Given the description of an element on the screen output the (x, y) to click on. 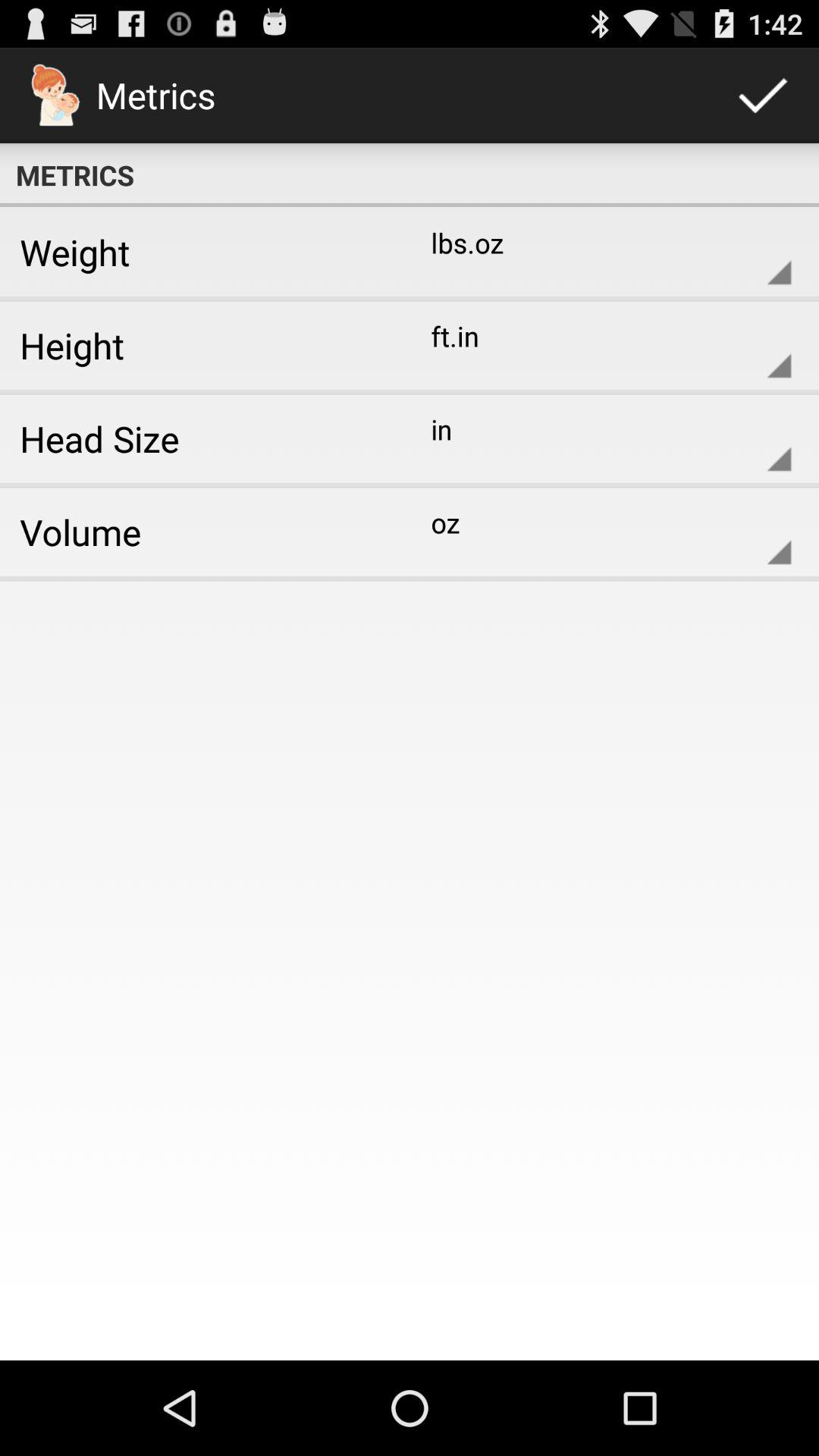
swipe to the volume item (199, 531)
